Given the description of an element on the screen output the (x, y) to click on. 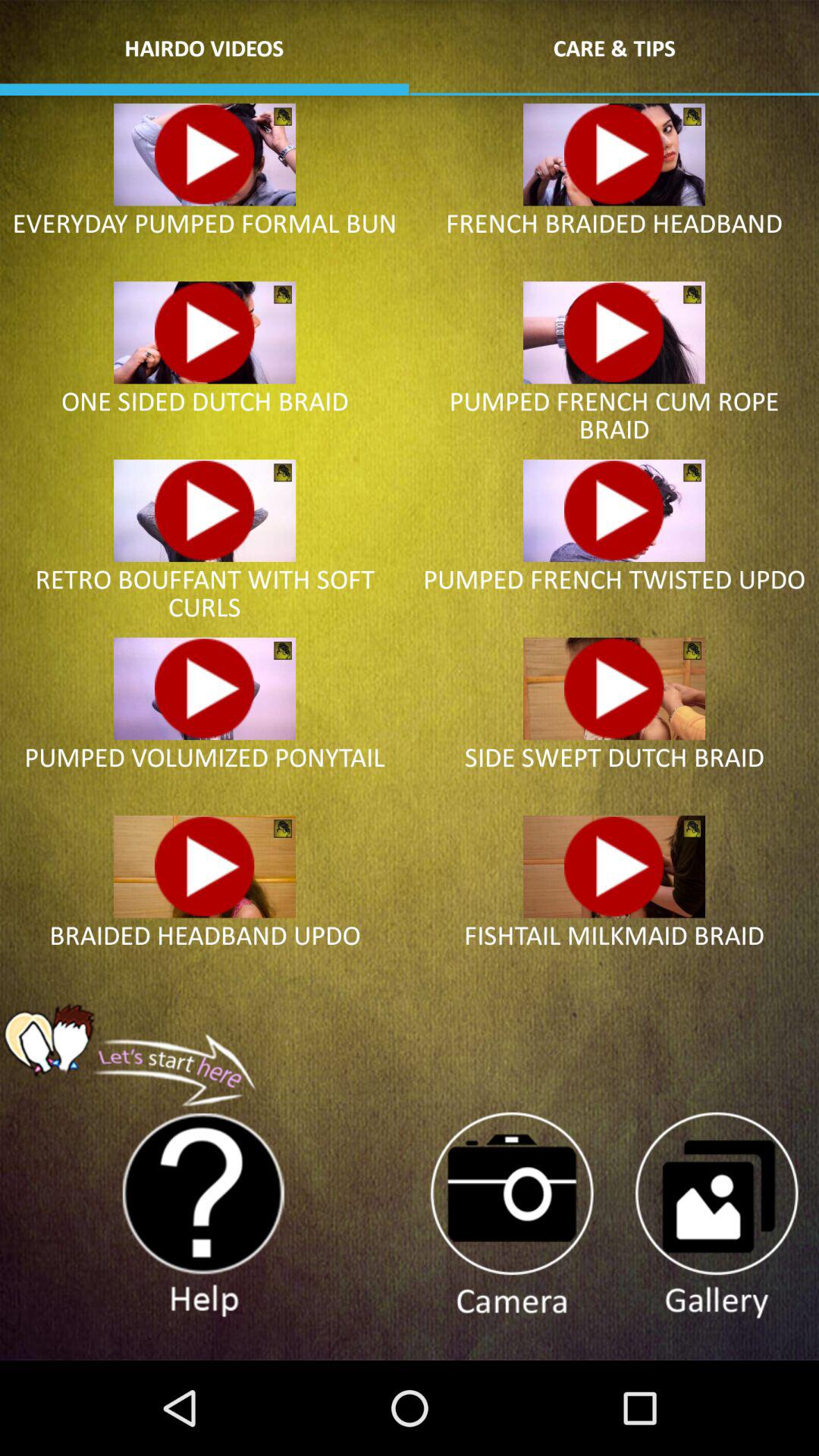
camera application (511, 1215)
